Given the description of an element on the screen output the (x, y) to click on. 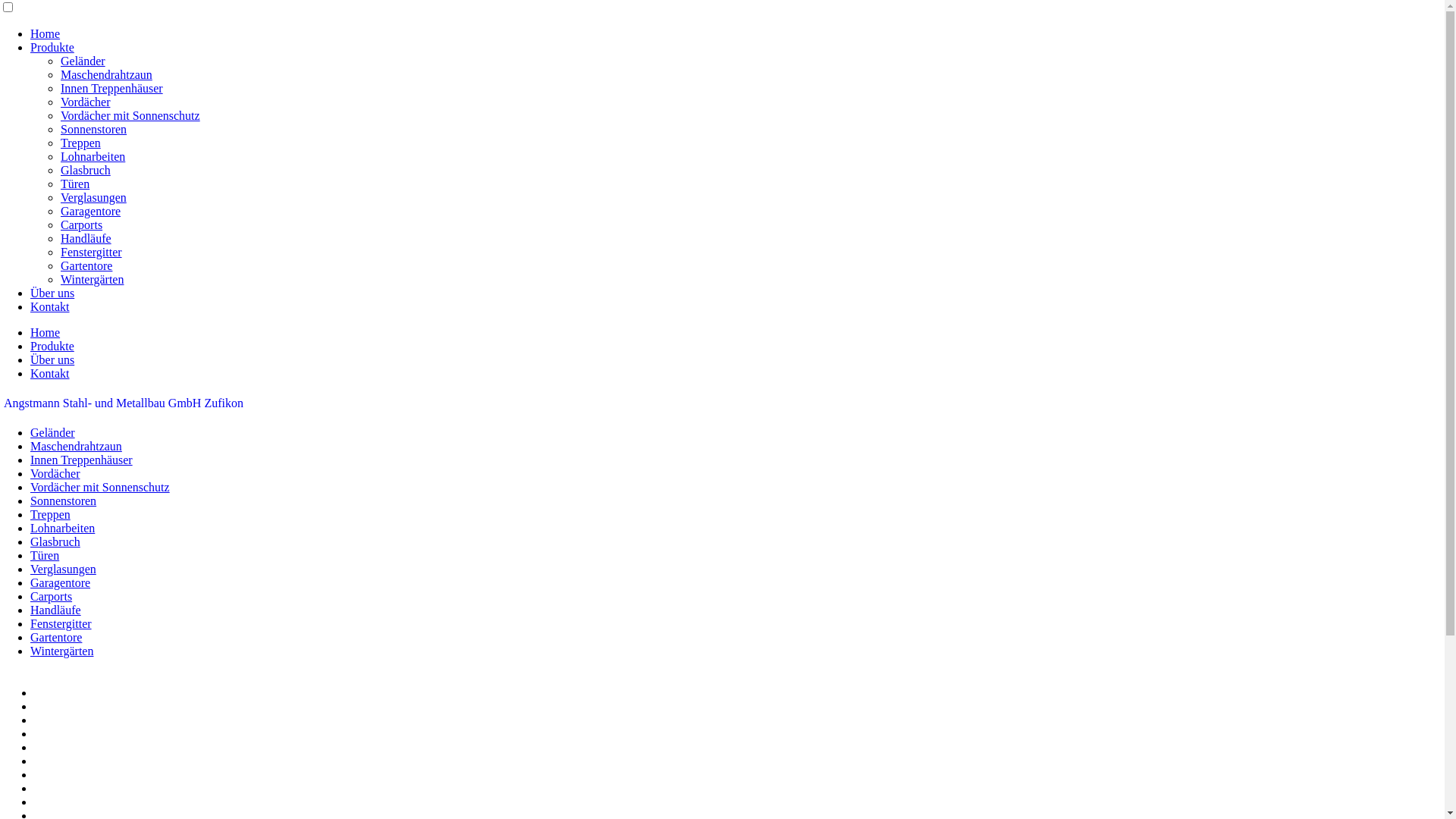
Produkte Element type: text (52, 46)
Lohnarbeiten Element type: text (62, 527)
Angstmann Stahl- und Metallbau GmbH Zufikon Element type: text (123, 402)
Maschendrahtzaun Element type: text (106, 74)
Fenstergitter Element type: text (60, 623)
Home Element type: text (44, 332)
Glasbruch Element type: text (85, 169)
Kontakt Element type: text (49, 306)
Glasbruch Element type: text (55, 541)
Sonnenstoren Element type: text (63, 500)
Gartentore Element type: text (55, 636)
Lohnarbeiten Element type: text (92, 156)
Fenstergitter Element type: text (91, 251)
Verglasungen Element type: text (63, 568)
Verglasungen Element type: text (93, 197)
Kontakt Element type: text (49, 373)
Produkte Element type: text (52, 345)
Treppen Element type: text (80, 142)
Gartentore Element type: text (86, 265)
Carports Element type: text (81, 224)
Garagentore Element type: text (60, 582)
Garagentore Element type: text (90, 210)
Sonnenstoren Element type: text (93, 128)
Home Element type: text (44, 33)
Maschendrahtzaun Element type: text (76, 445)
Carports Element type: text (51, 595)
Treppen Element type: text (50, 514)
